Given the description of an element on the screen output the (x, y) to click on. 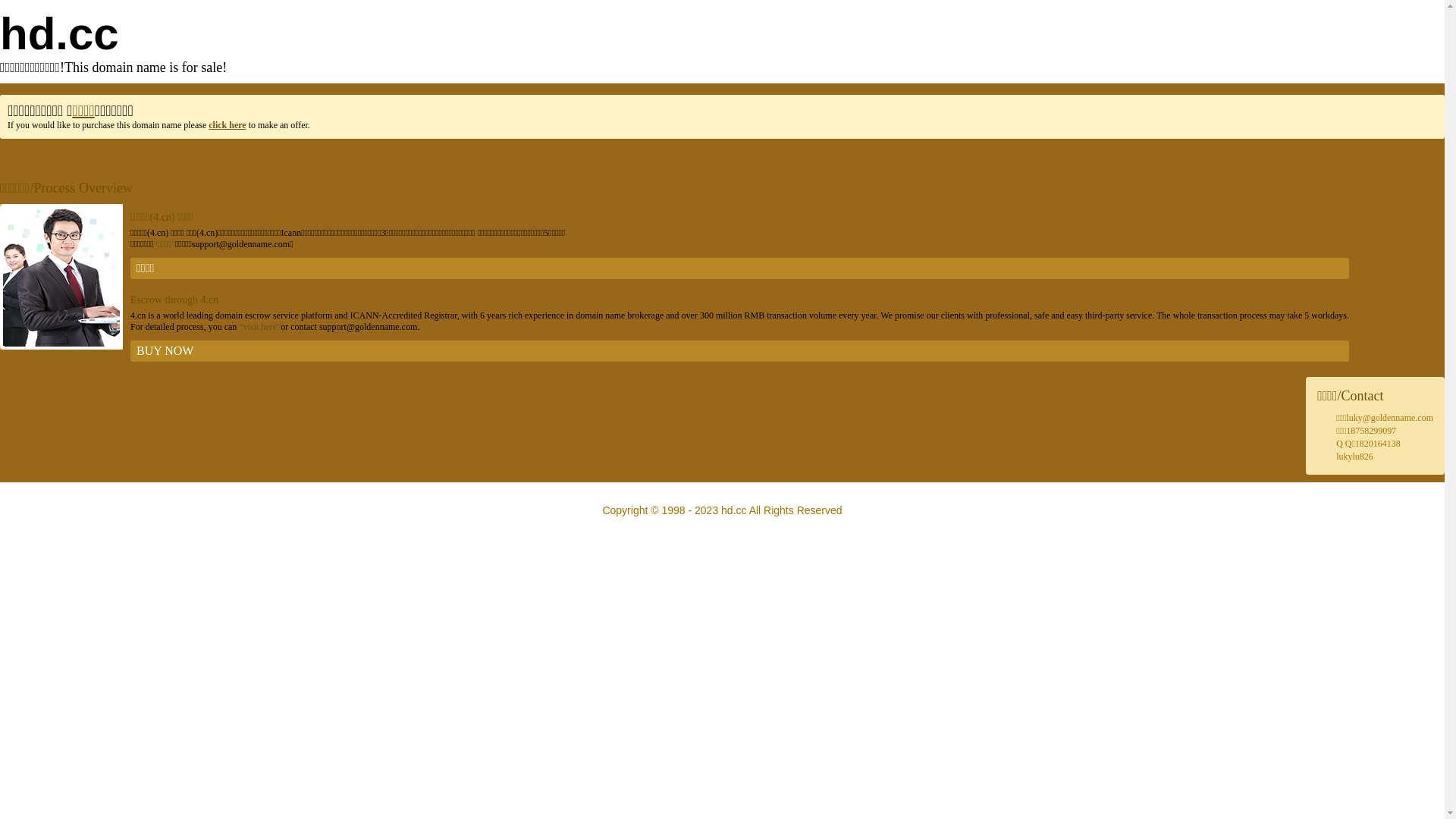
BUY NOW Element type: text (739, 350)
click here Element type: text (226, 124)
